Given the description of an element on the screen output the (x, y) to click on. 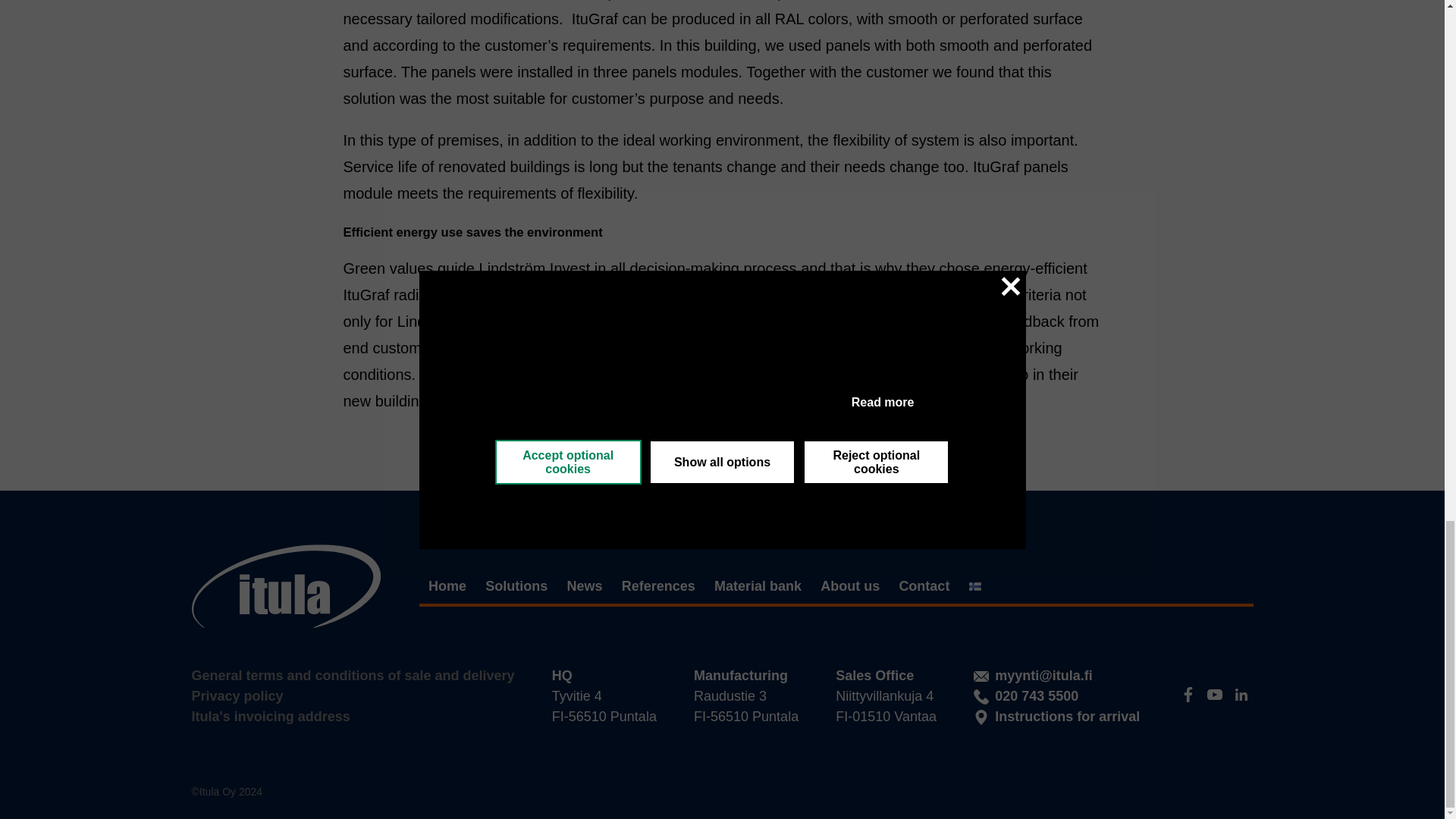
020 743 5500 (1026, 696)
General terms and conditions of sale and delivery (351, 675)
Instructions for arrival (1057, 716)
About us (850, 586)
Solutions (515, 586)
Material bank (758, 586)
Home (446, 586)
Itula's invoicing address (269, 716)
Contact (923, 586)
Privacy policy (236, 695)
